Given the description of an element on the screen output the (x, y) to click on. 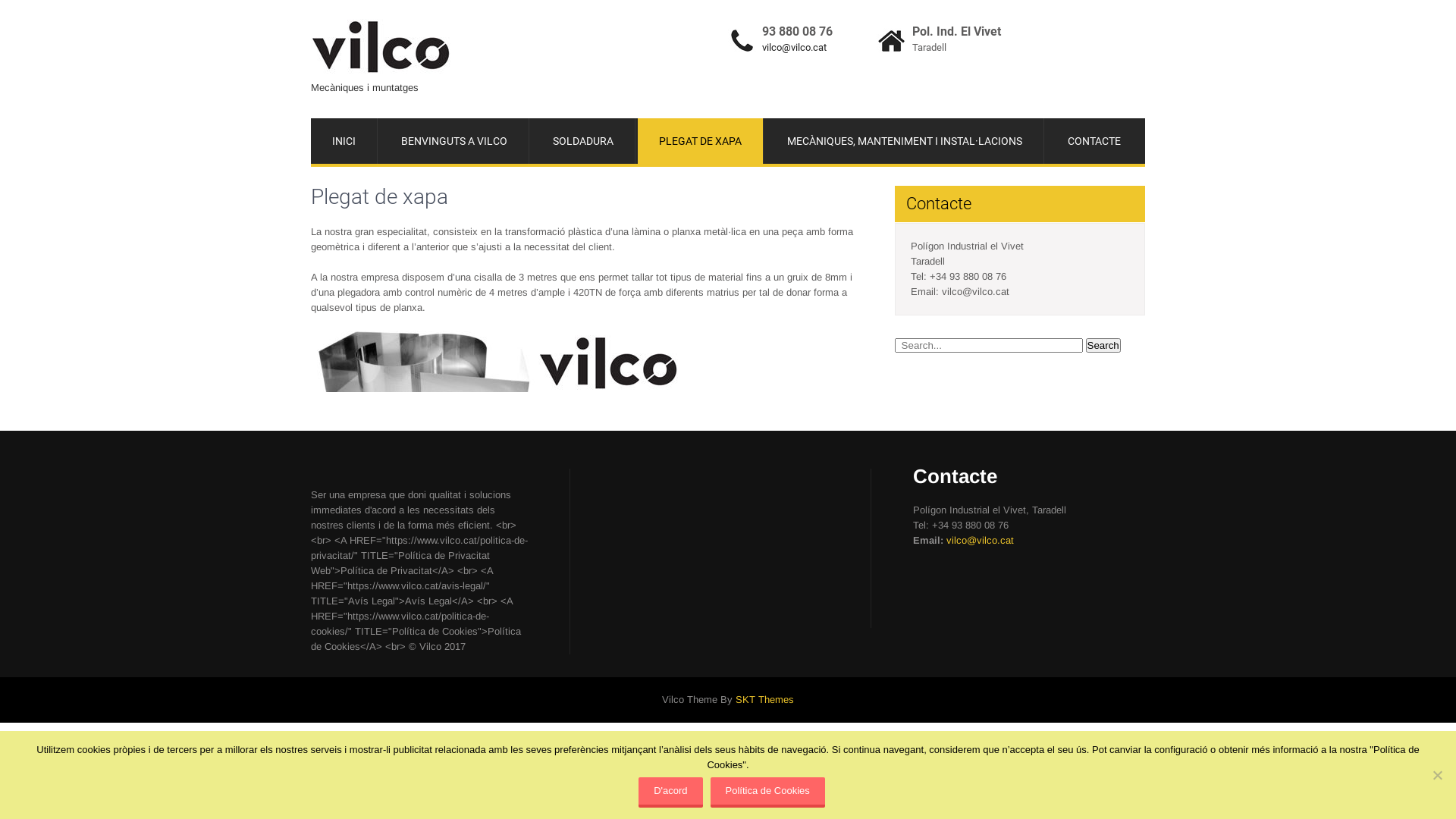
vilco@vilco.cat Element type: text (794, 47)
No Element type: hover (1436, 774)
vilco@vilco.cat Element type: text (979, 540)
PLEGAT DE XAPA Element type: text (700, 140)
BENVINGUTS A VILCO Element type: text (454, 140)
INICI Element type: text (343, 140)
D'acord Element type: text (670, 792)
SOLDADURA Element type: text (583, 140)
CONTACTE Element type: text (1094, 140)
Search Element type: text (1102, 345)
SKT Themes Element type: text (764, 699)
